Given the description of an element on the screen output the (x, y) to click on. 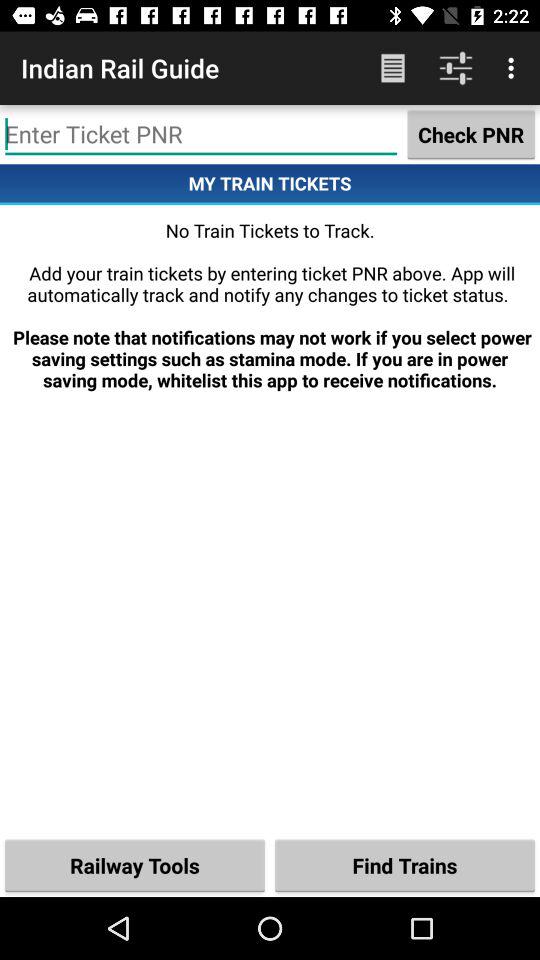
choose the icon below no train tickets (135, 864)
